Given the description of an element on the screen output the (x, y) to click on. 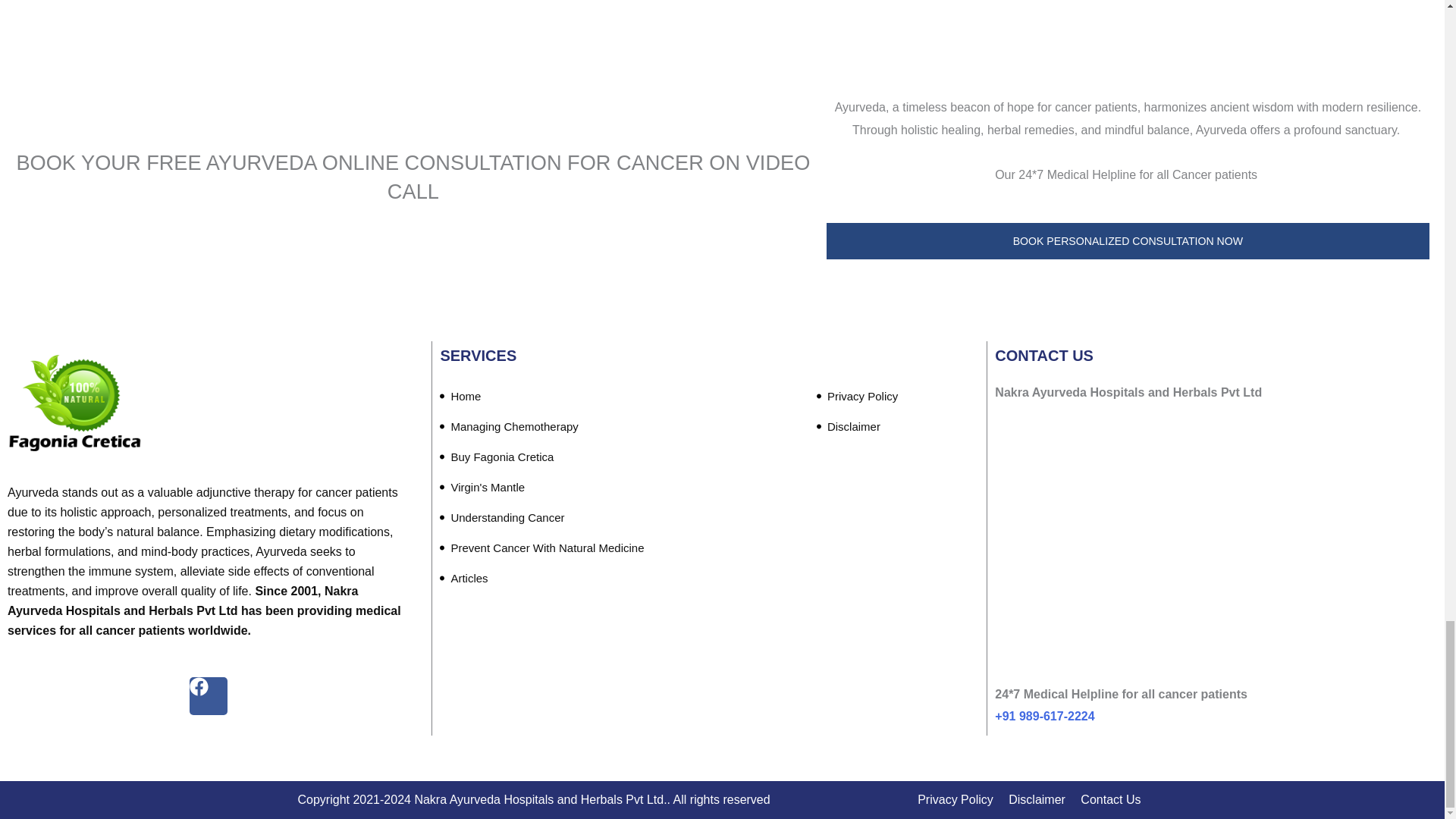
BOOK PERSONALIZED CONSULTATION NOW (1128, 240)
Privacy Policy (857, 396)
Virgin's Mantle (481, 487)
Prevent Cancer With Natural Medicine (541, 548)
Nakra Ayurveda Hospitals and Herbals Pvt Ltd (1212, 554)
Home (459, 396)
Understanding Cancer (501, 517)
Buy Fagonia Cretica (496, 457)
Articles (463, 578)
Managing Chemotherapy (508, 426)
Facebook (208, 695)
